Given the description of an element on the screen output the (x, y) to click on. 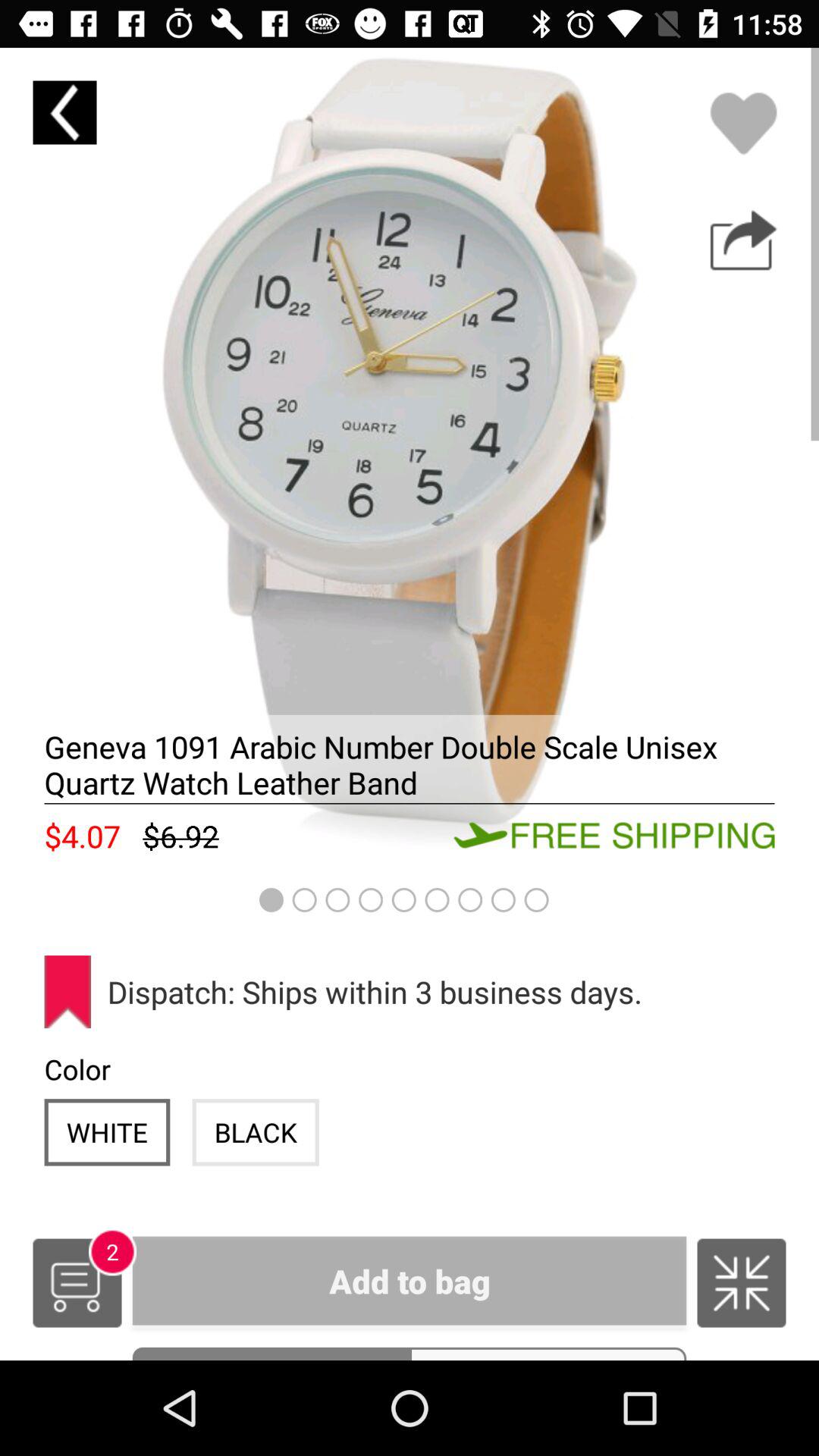
open the item below the white item (76, 1282)
